Given the description of an element on the screen output the (x, y) to click on. 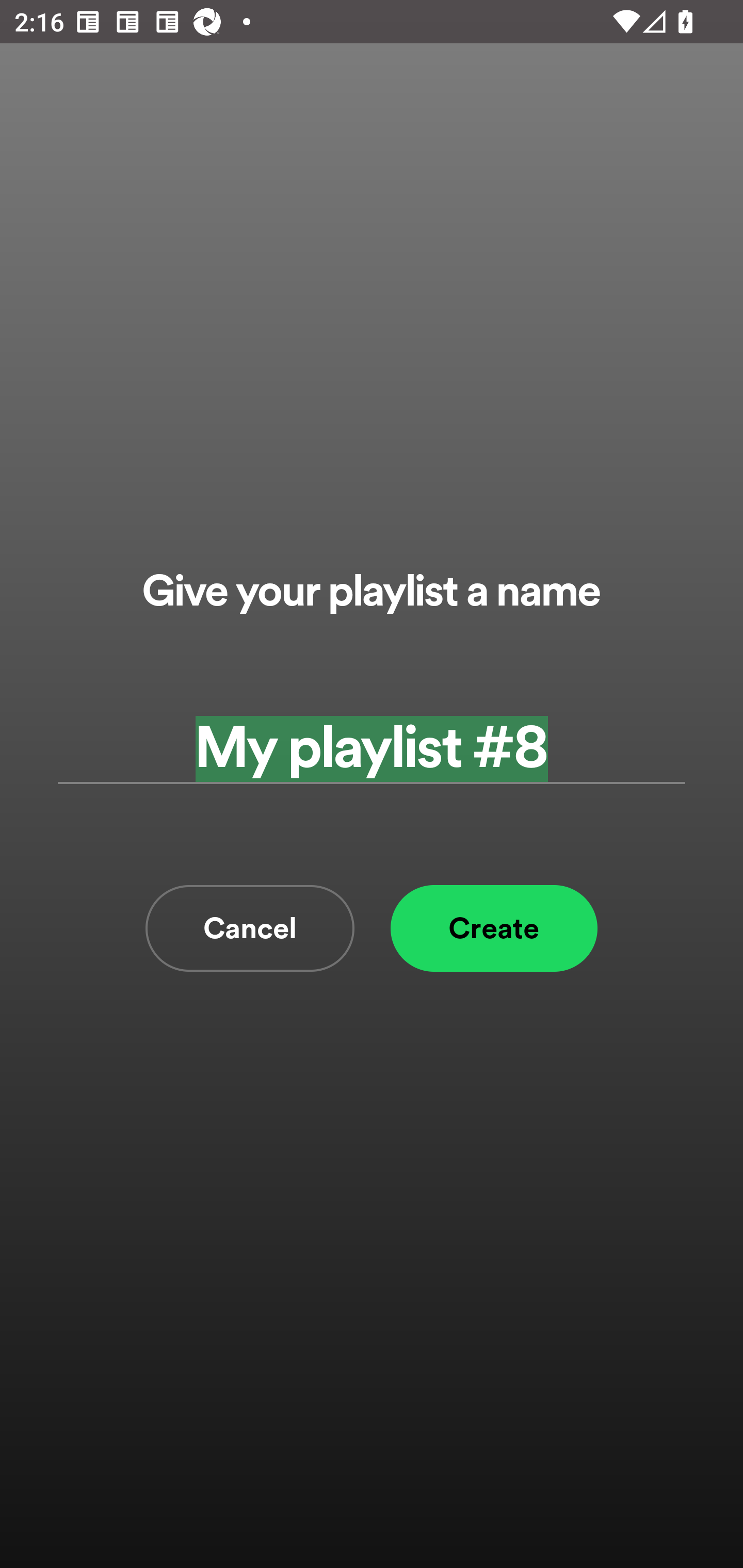
My playlist #8 Add a playlist name (371, 749)
Cancel (249, 928)
Create (493, 928)
